Given the description of an element on the screen output the (x, y) to click on. 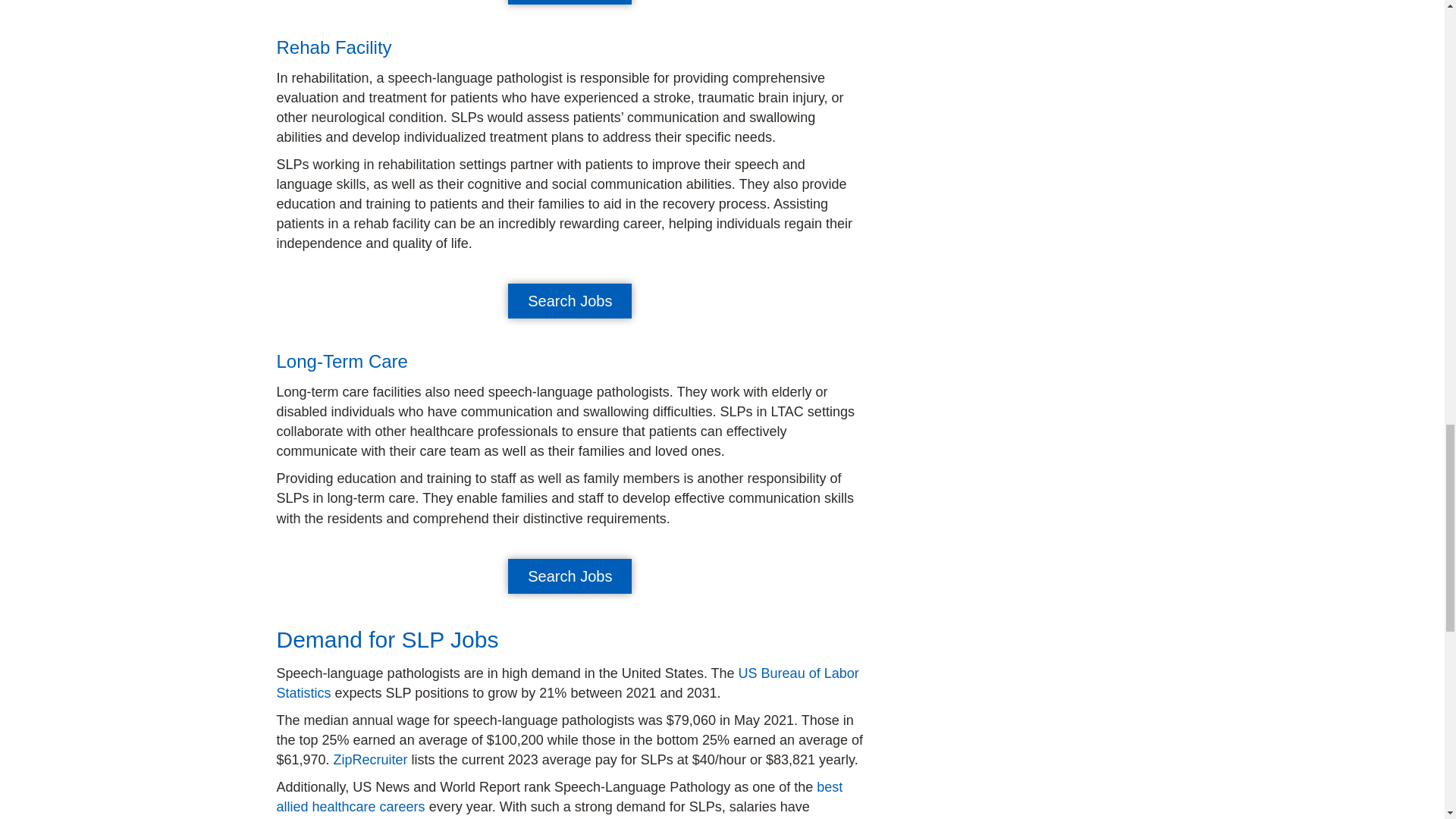
Search Jobs (569, 575)
US Bureau of Labor Statistics (567, 683)
Search Jobs (569, 2)
ZipRecruiter (370, 759)
best allied healthcare careers (559, 796)
Search Jobs (569, 300)
